Given the description of an element on the screen output the (x, y) to click on. 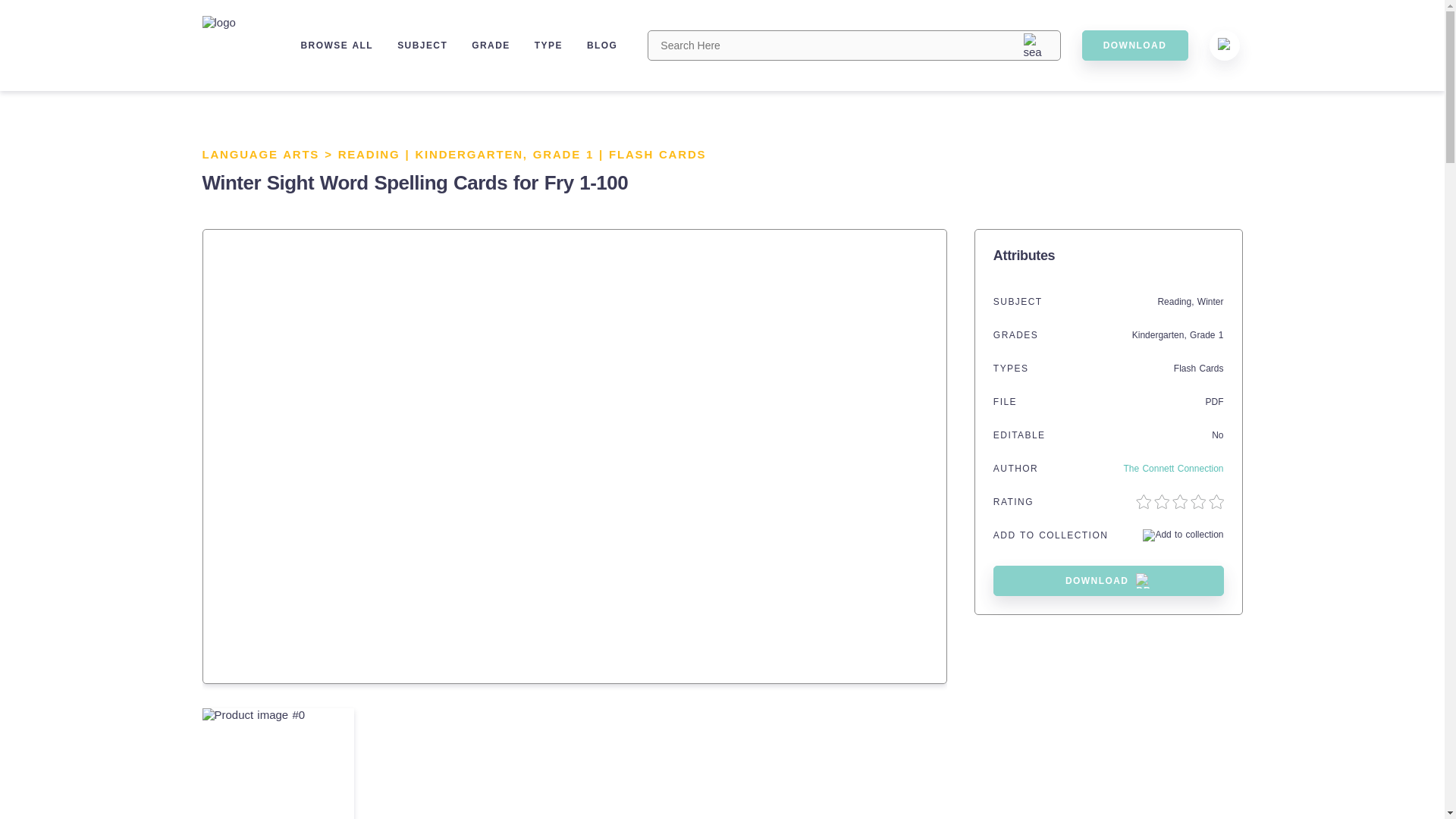
Kindergarten (1158, 335)
KINDERGARTEN (468, 154)
FLASH CARDS (657, 154)
Flash Cards (1198, 368)
Reading, (1176, 301)
LANGUAGE ARTS (260, 154)
PDF (1214, 401)
DOWNLOAD (1108, 580)
READING (368, 154)
DOWNLOAD (1134, 45)
The Connett Connection (1172, 468)
Winter (1210, 301)
BLOG (601, 45)
